Given the description of an element on the screen output the (x, y) to click on. 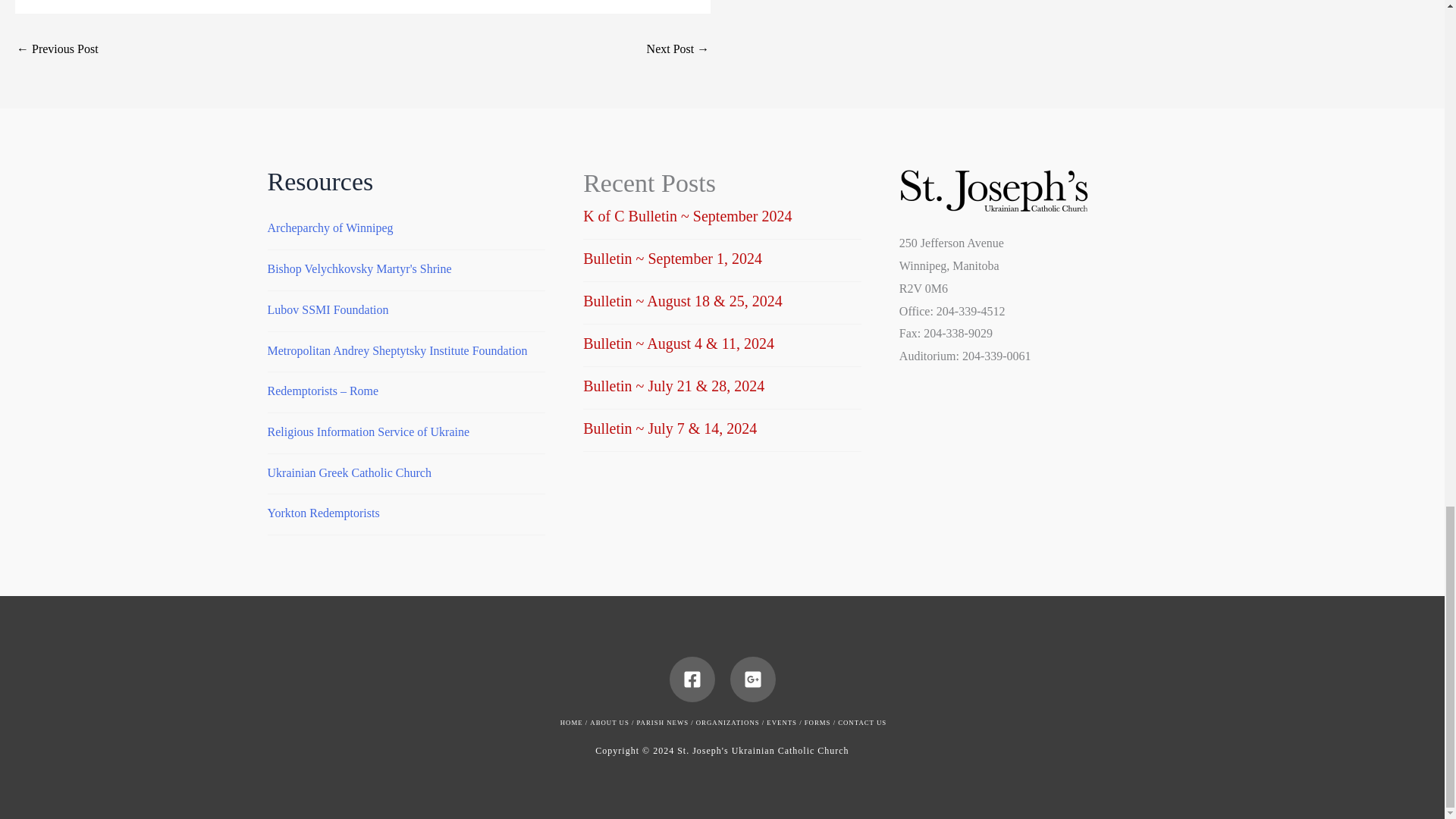
Bulletin - April 7, 2013 (57, 49)
Metropolitan Andrey Sheptytsky Institute Foundation (396, 350)
Pastor's Message - April 7, 2013 (678, 49)
